Given the description of an element on the screen output the (x, y) to click on. 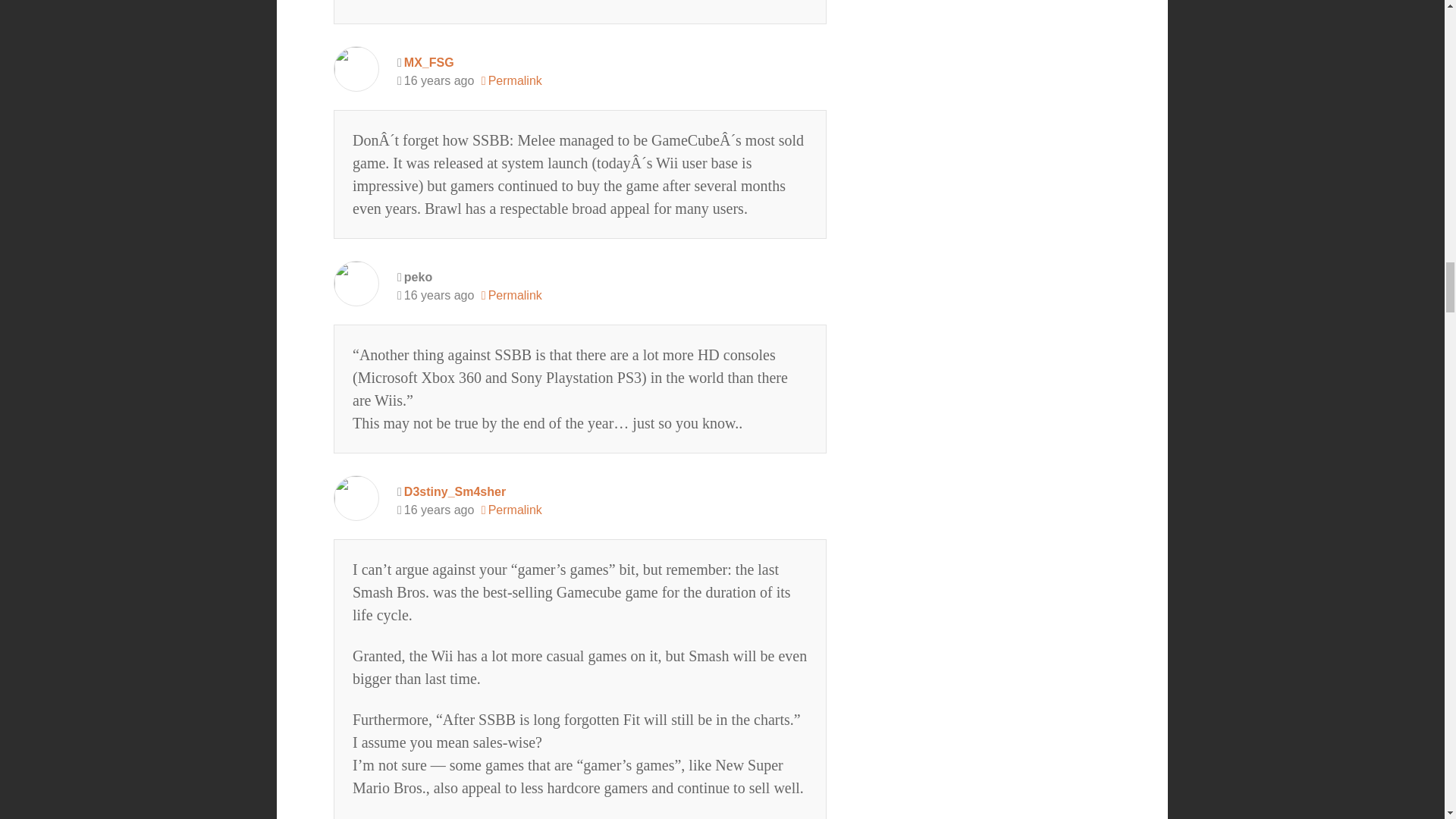
Permalink (511, 81)
Permalink (511, 510)
Permalink (511, 295)
